Given the description of an element on the screen output the (x, y) to click on. 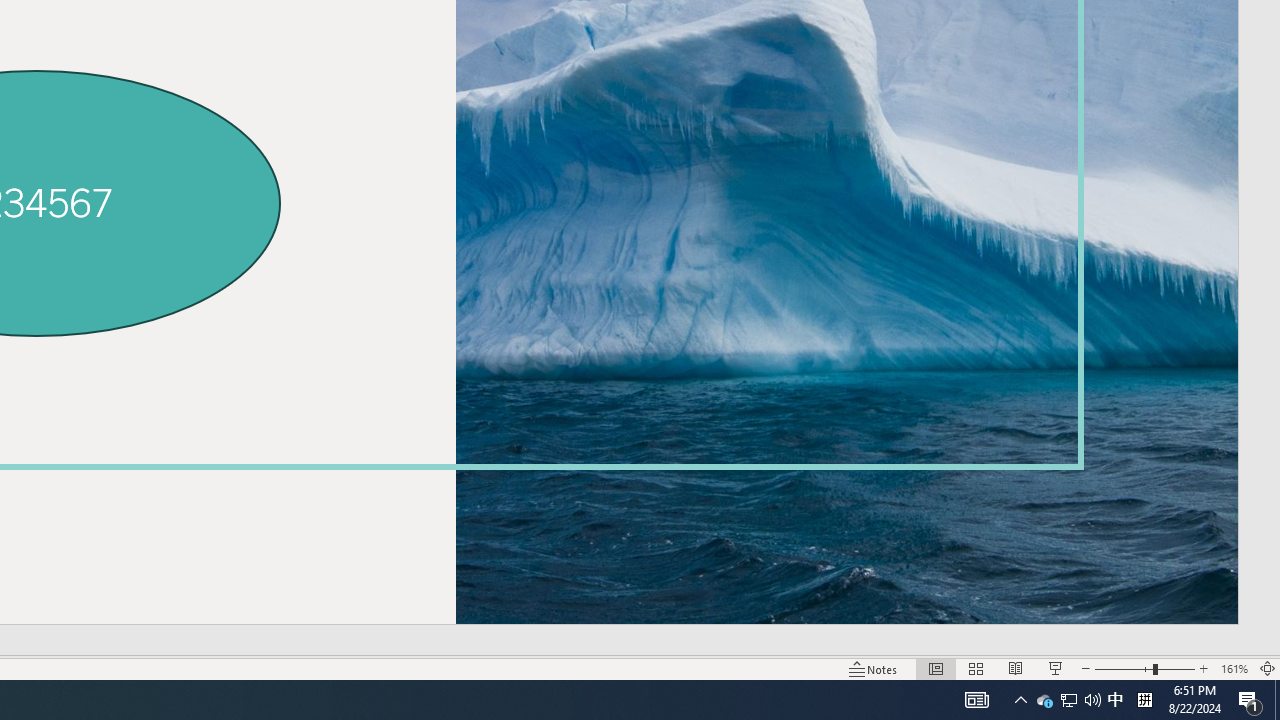
Zoom 161% (1234, 668)
